Given the description of an element on the screen output the (x, y) to click on. 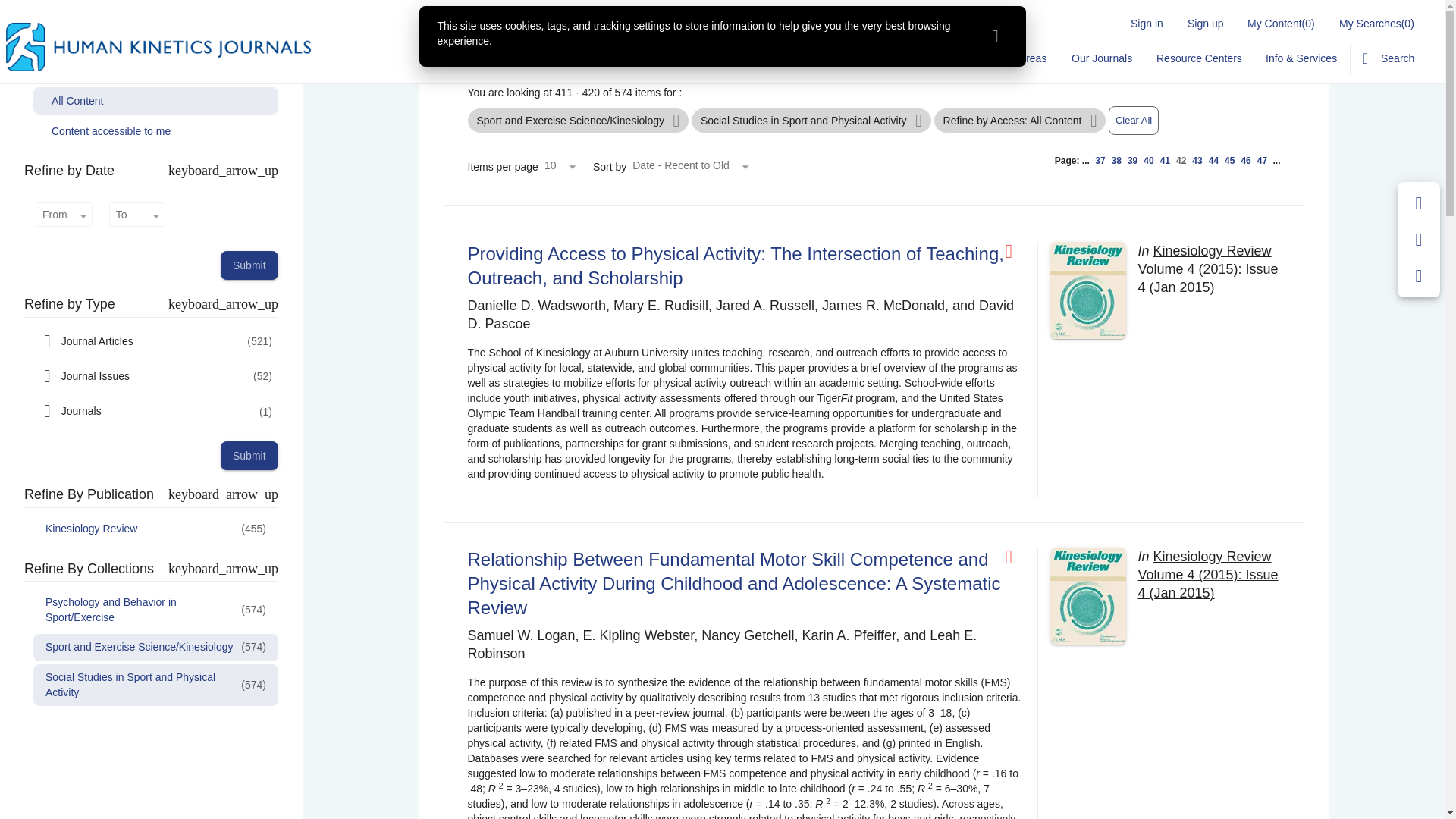
Our Journals (1100, 58)
Browse (799, 58)
Subject Areas (1013, 58)
Subscribe (933, 58)
Email Page (1418, 239)
Dismiss this warning (994, 36)
Sign in (1146, 23)
Sign up (1204, 23)
Resource Centers (1198, 58)
Jump to Content (40, 8)
